Given the description of an element on the screen output the (x, y) to click on. 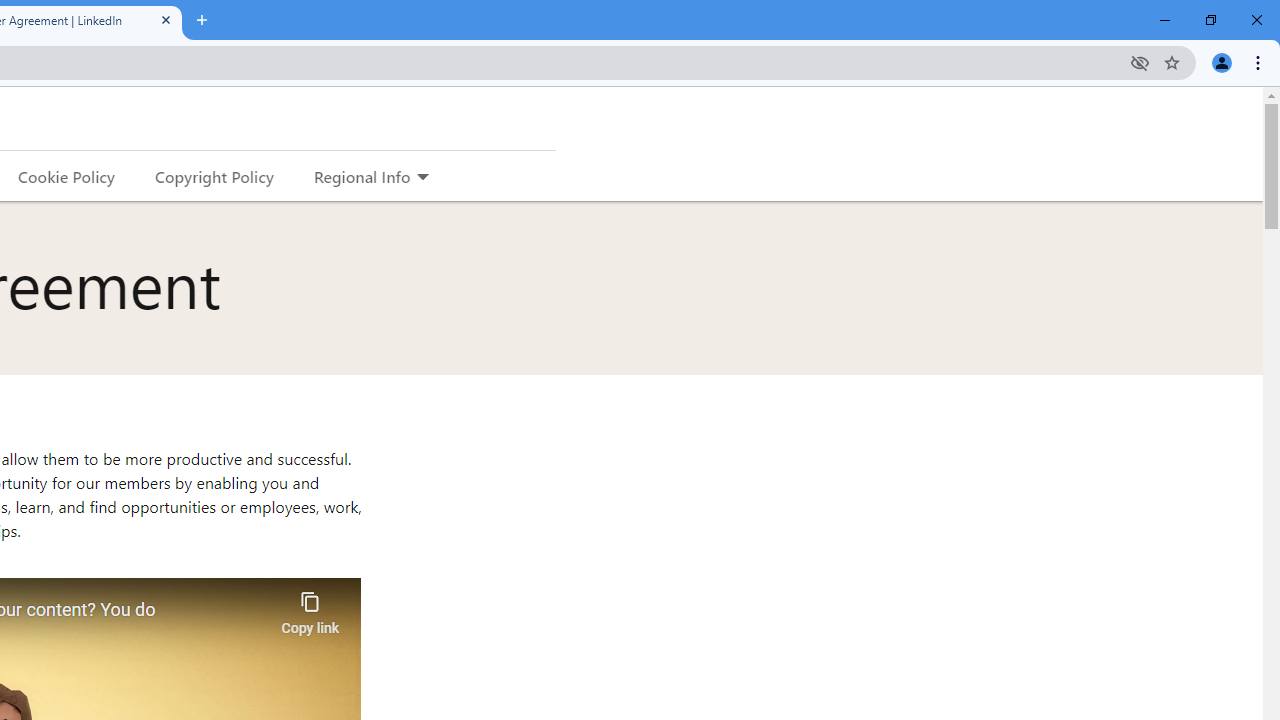
Regional Info (361, 176)
Copy link (310, 608)
Cookie Policy (66, 176)
Copyright Policy (213, 176)
Expand to show more links for Regional Info (422, 178)
